Given the description of an element on the screen output the (x, y) to click on. 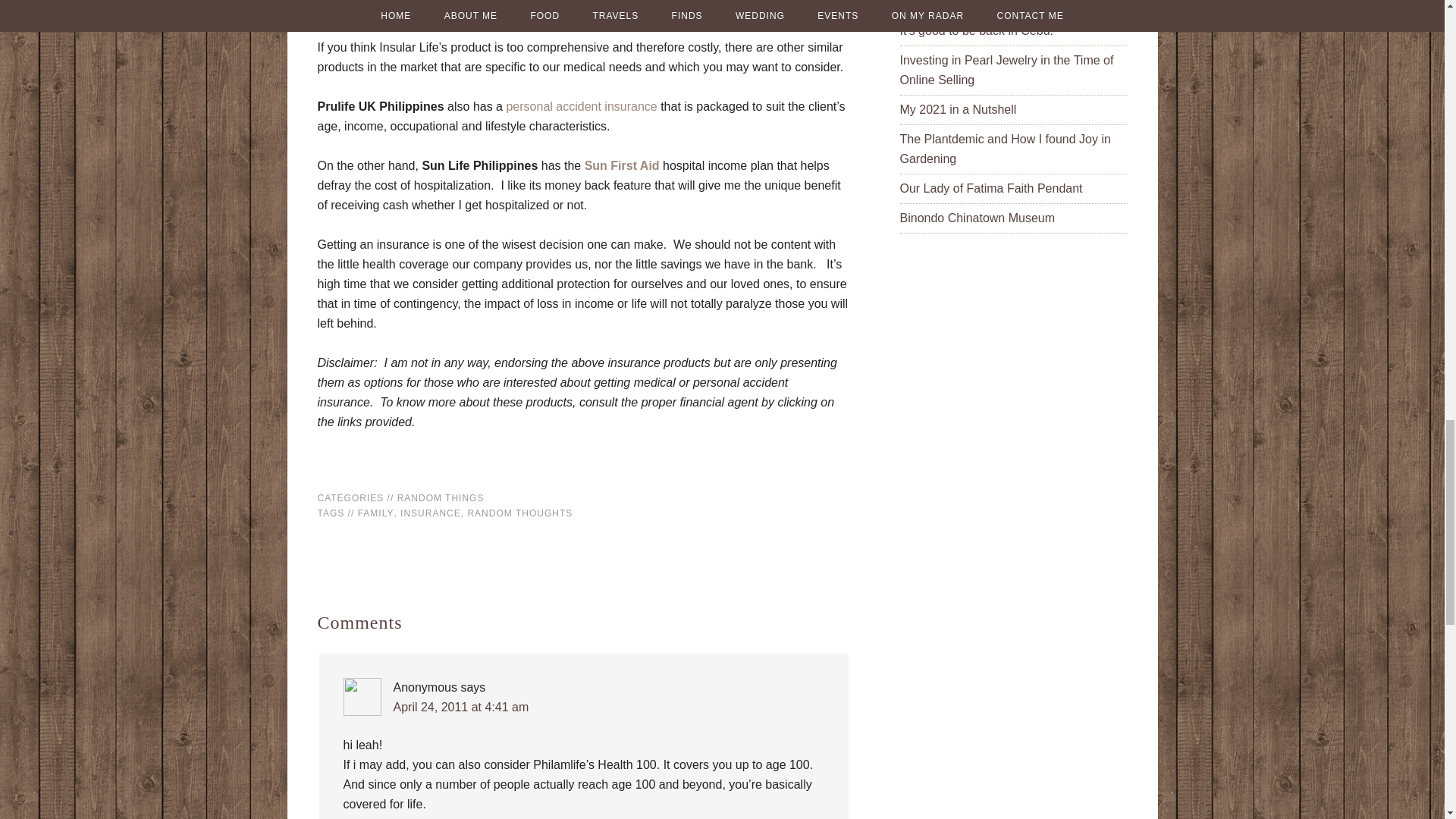
A Short Visit to South Korea (974, 3)
Investing in Pearl Jewelry in the Time of Online Selling (1006, 70)
April 24, 2011 at 4:41 am (460, 707)
RANDOM THOUGHTS (519, 512)
Sun First Aid (622, 164)
INSURANCE (430, 512)
FAMILY (376, 512)
personal accident insurance (580, 106)
RANDOM THINGS (440, 498)
